Given the description of an element on the screen output the (x, y) to click on. 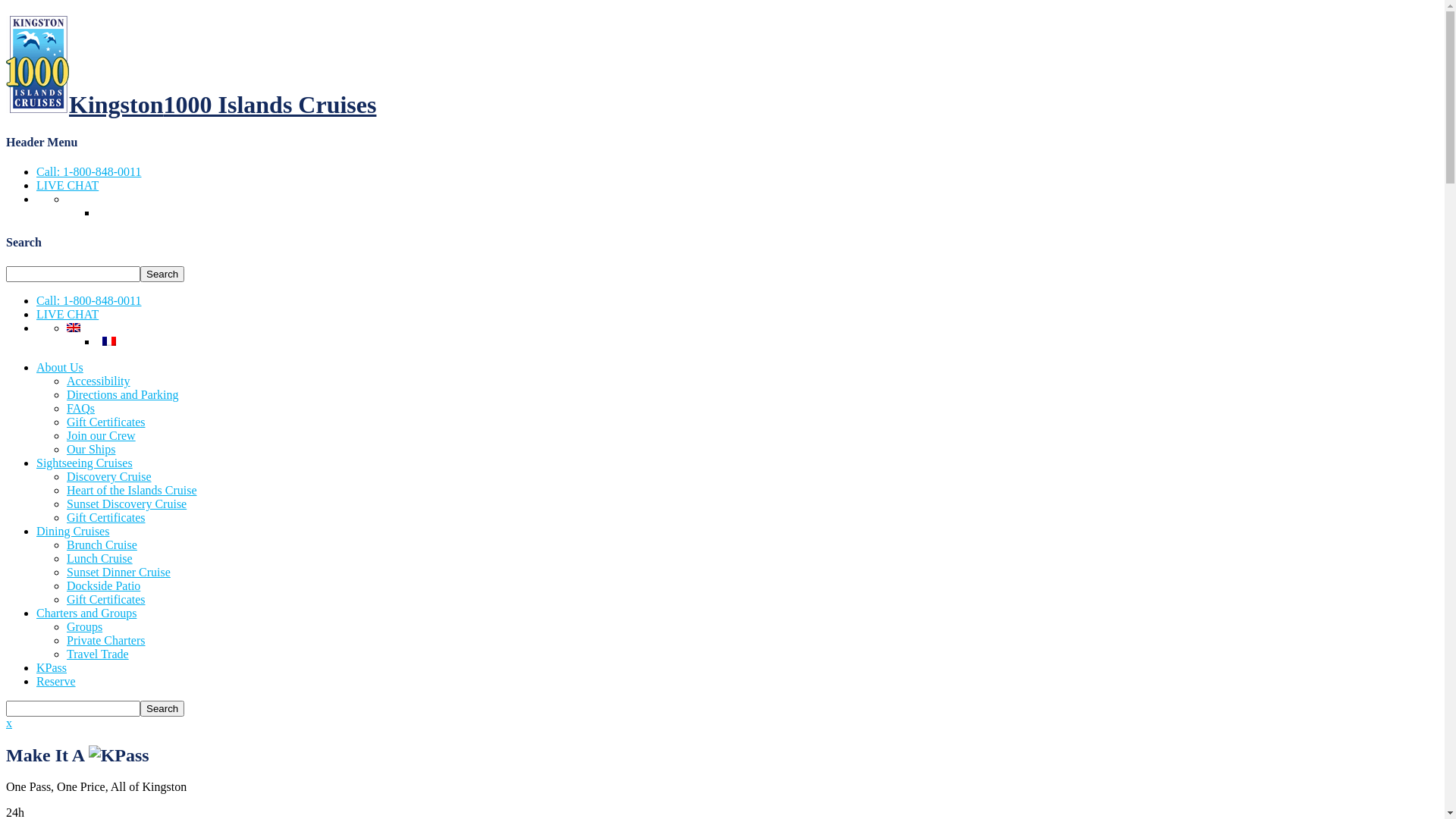
Accessibility Element type: text (98, 380)
KPass Element type: text (51, 667)
Sightseeing Cruises Element type: text (84, 462)
Heart of the Islands Cruise Element type: text (131, 489)
Gift Certificates Element type: text (105, 599)
Dining Cruises Element type: text (72, 530)
Gift Certificates Element type: text (105, 421)
1000 Islands Cruises Element type: hover (37, 63)
Gift Certificates Element type: text (105, 517)
Lunch Cruise Element type: text (99, 558)
Sunset Dinner Cruise Element type: text (118, 571)
Search Element type: text (162, 708)
Call: 1-800-848-0011 Element type: text (88, 171)
Brunch Cruise Element type: text (101, 544)
Private Charters Element type: text (105, 639)
Groups Element type: text (84, 626)
Discovery Cruise Element type: text (108, 476)
Dockside Patio Element type: text (103, 585)
Call: 1-800-848-0011 Element type: text (88, 300)
Search Element type: text (162, 274)
LIVE CHAT Element type: text (67, 313)
LIVE CHAT Element type: text (67, 184)
Our Ships Element type: text (90, 448)
Sunset Discovery Cruise Element type: text (126, 503)
Travel Trade Element type: text (97, 653)
Kingston1000 Islands Cruises Element type: text (191, 104)
FAQs Element type: text (80, 407)
Reserve Element type: text (55, 680)
x Element type: text (9, 722)
Charters and Groups Element type: text (86, 612)
Join our Crew Element type: text (100, 435)
Directions and Parking Element type: text (122, 394)
About Us Element type: text (59, 366)
